Given the description of an element on the screen output the (x, y) to click on. 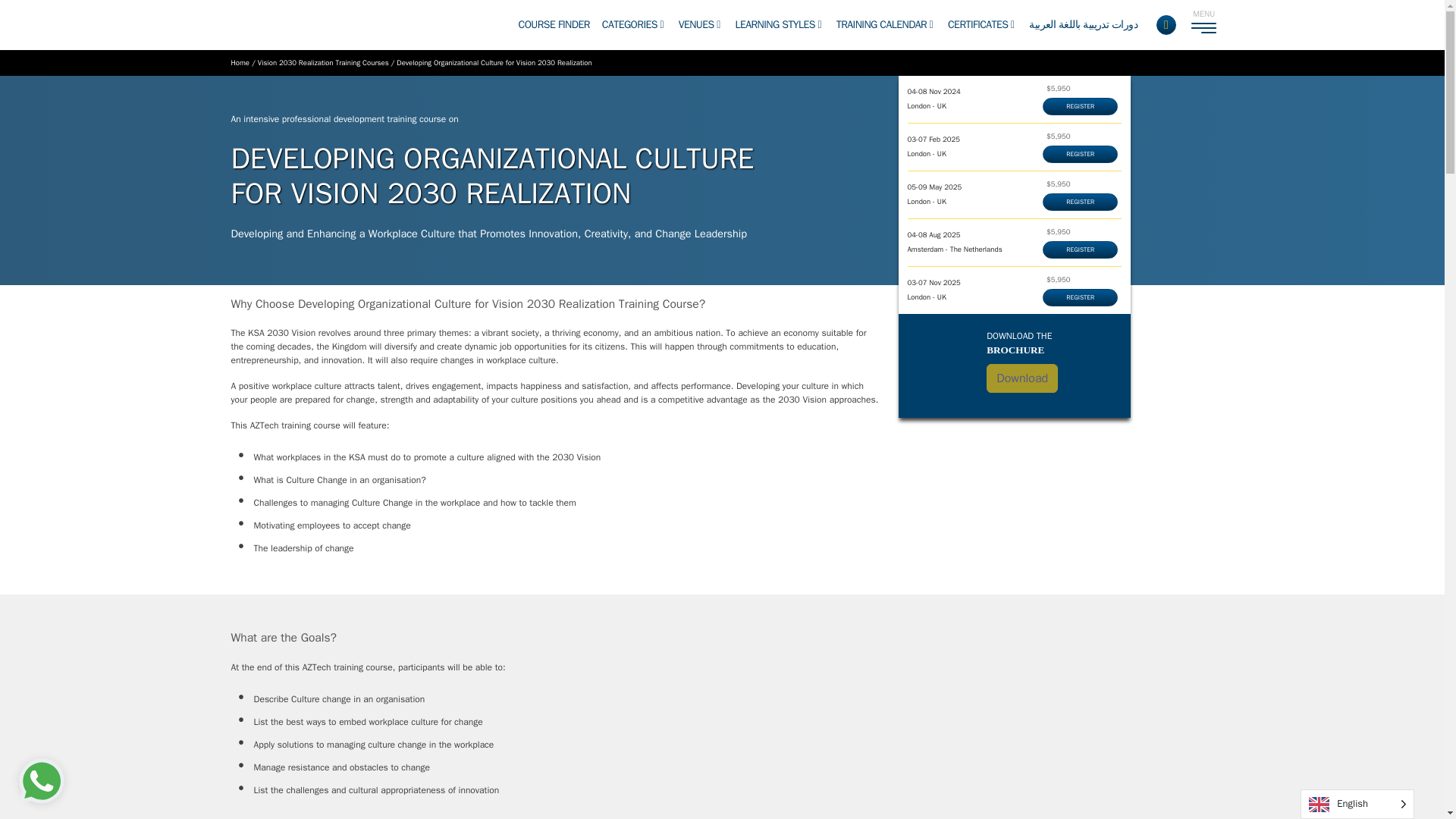
COURSE FINDER (553, 24)
Show Chat (42, 781)
CATEGORIES (632, 24)
